Given the description of an element on the screen output the (x, y) to click on. 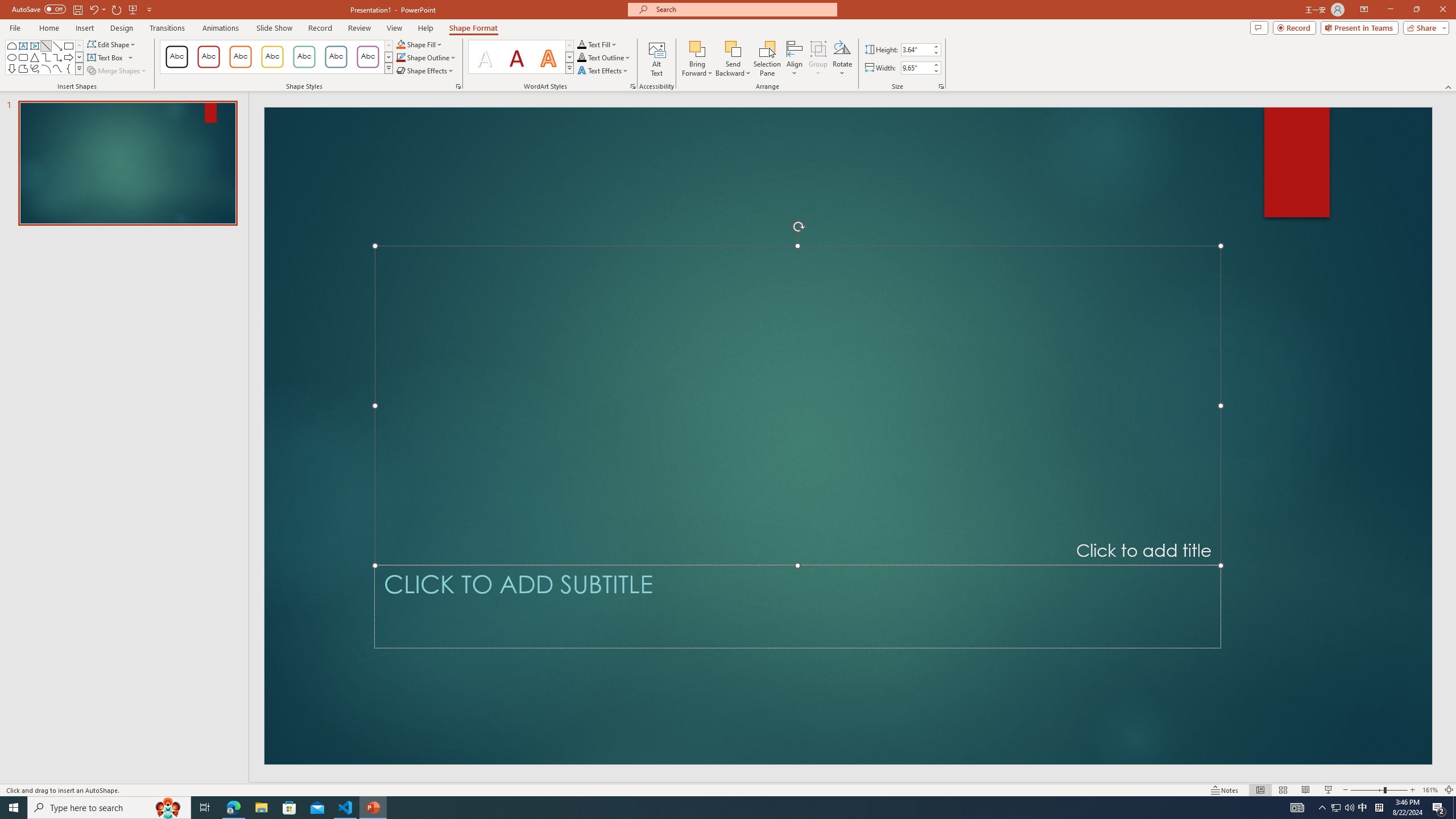
Subtitle TextBox (797, 606)
Draw Horizontal Text Box (105, 56)
Shape Height (915, 49)
Colored Outline - Orange, Accent 2 (240, 56)
Colored Outline - Purple, Accent 6 (368, 56)
Edit Shape (112, 44)
